Given the description of an element on the screen output the (x, y) to click on. 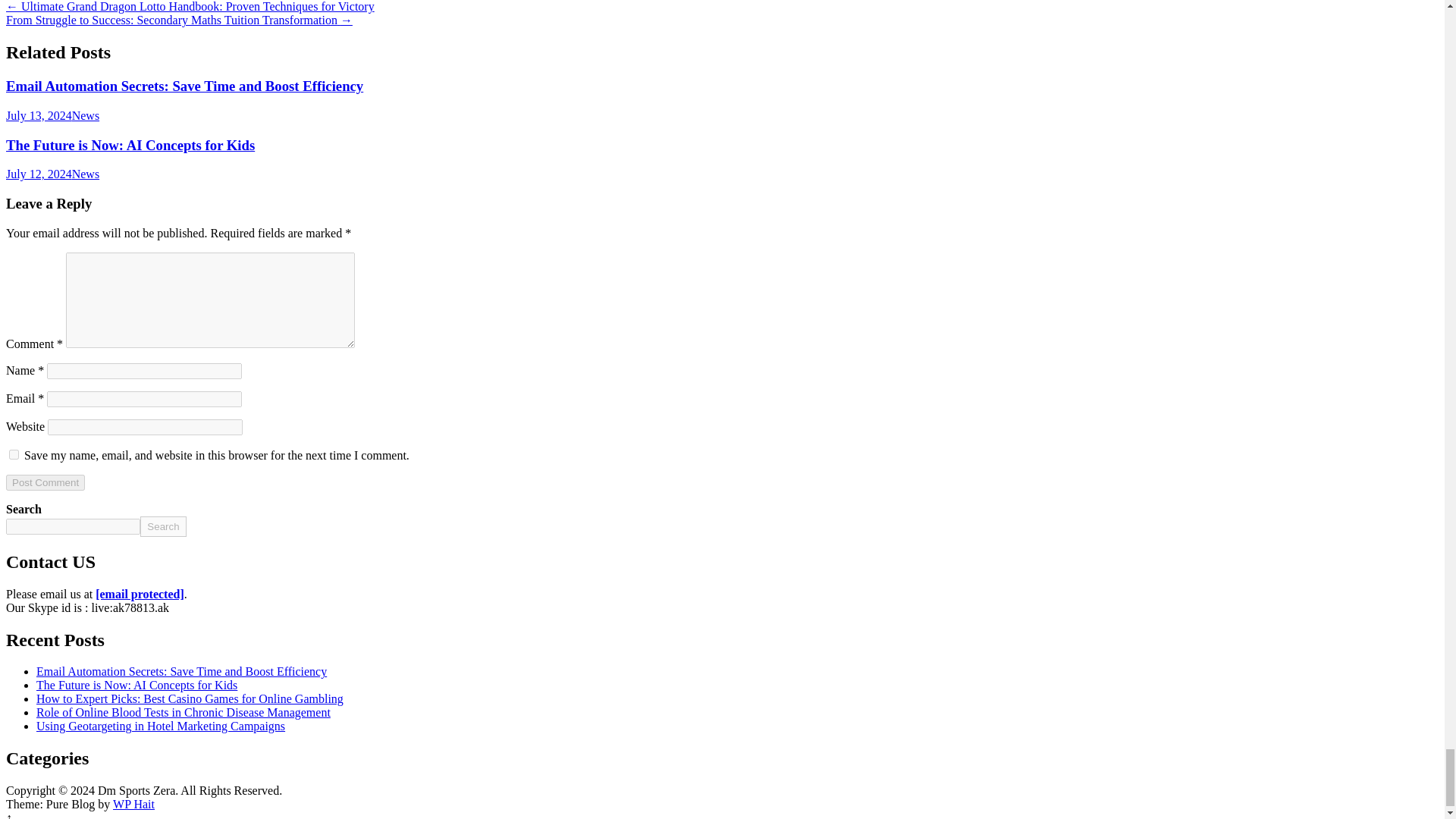
yes (13, 454)
July 13, 2024 (38, 115)
Email Automation Secrets: Save Time and Boost Efficiency (183, 85)
Post Comment (44, 482)
